Given the description of an element on the screen output the (x, y) to click on. 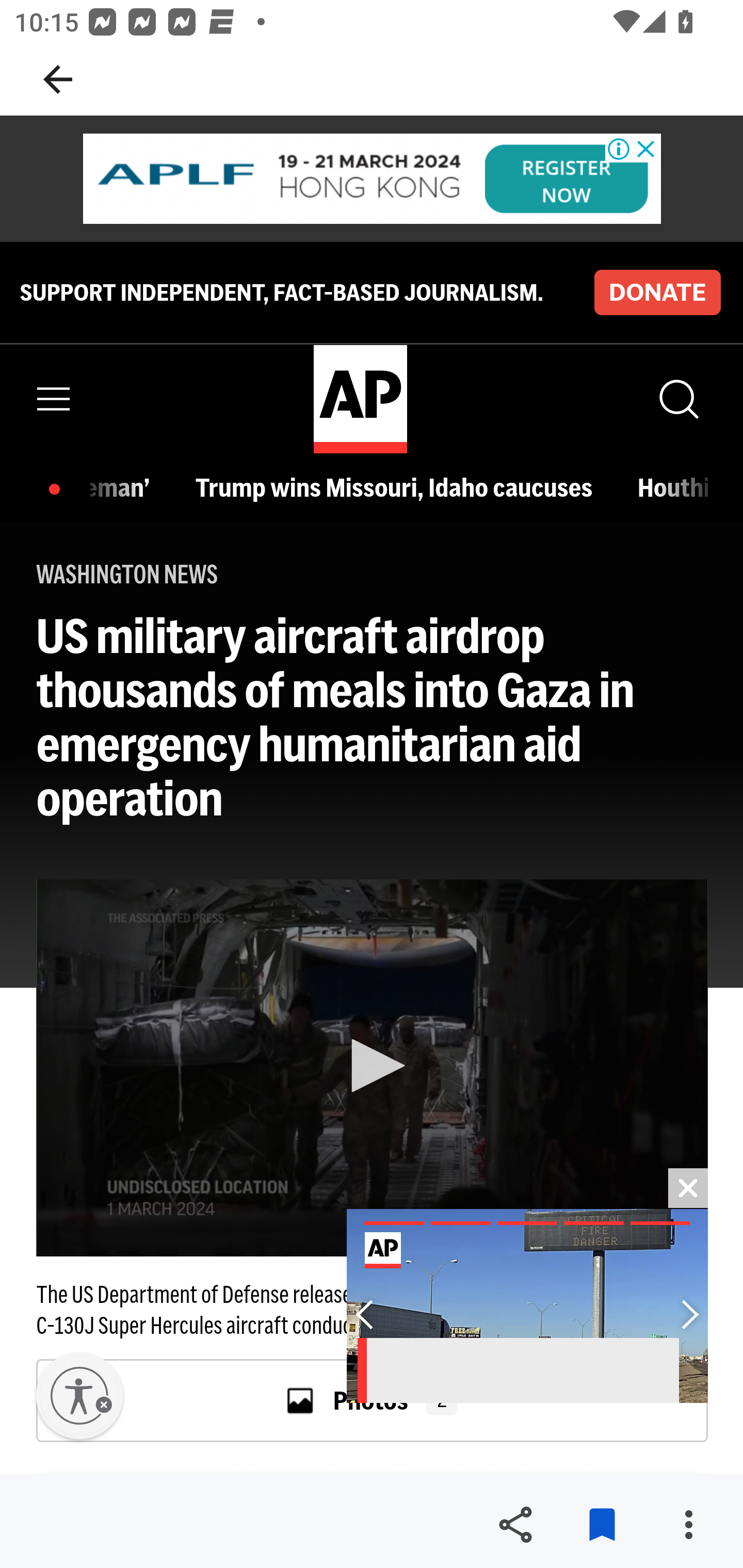
Navigate up (57, 79)
DONATE (657, 291)
home page AP Logo (359, 398)
Menu (54, 398)
Show Search (677, 398)
Adam Sandler in ‘Spaceman’ (125, 487)
Trump wins Missouri, Idaho caucuses (398, 487)
Houthi-hit ship sinks in Red Sea (672, 487)
Play (372, 1066)
Enable accessibility (79, 1395)
Share (514, 1524)
Remove from saved stories (601, 1524)
More options (688, 1524)
